Given the description of an element on the screen output the (x, y) to click on. 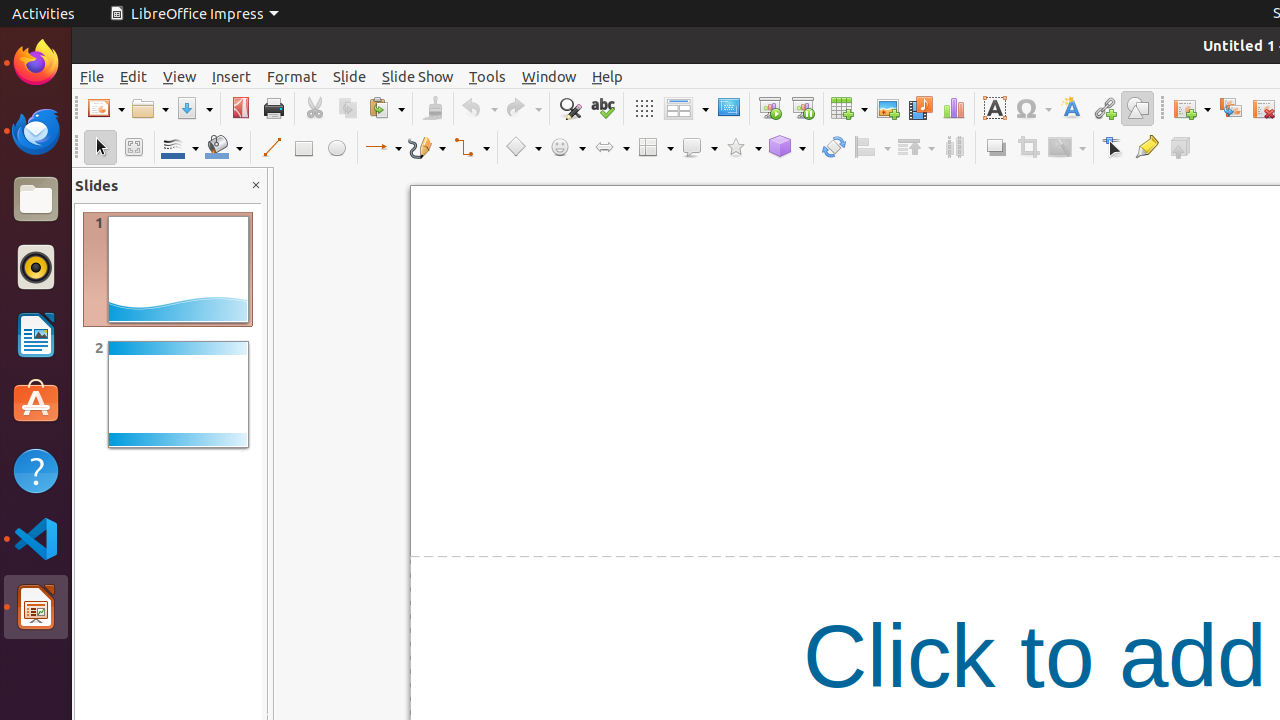
Glue Points Element type: push-button (1146, 147)
Copy Element type: push-button (347, 108)
LibreOffice Impress Element type: menu (193, 13)
Save Element type: push-button (194, 108)
Delete Slide Element type: push-button (1263, 108)
